Given the description of an element on the screen output the (x, y) to click on. 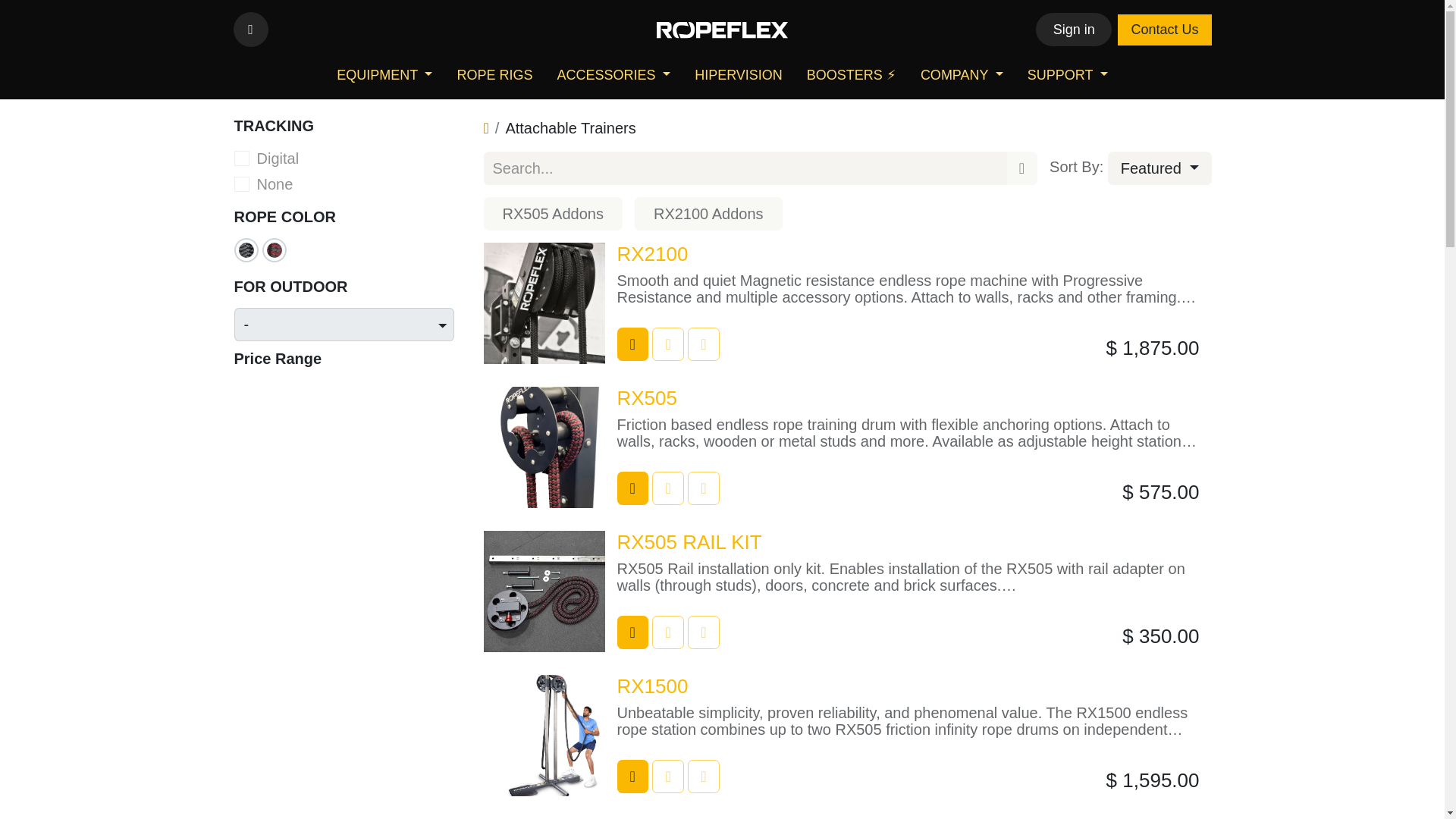
Compare (703, 344)
Sign in (1073, 29)
COMPANY (961, 74)
ACCESSORIES (613, 74)
Shopping cart (632, 488)
Shopping cart (632, 344)
9-41 (240, 183)
11 (639, 202)
HIPERVISION (738, 74)
Add to Wishlist (667, 344)
